Given the description of an element on the screen output the (x, y) to click on. 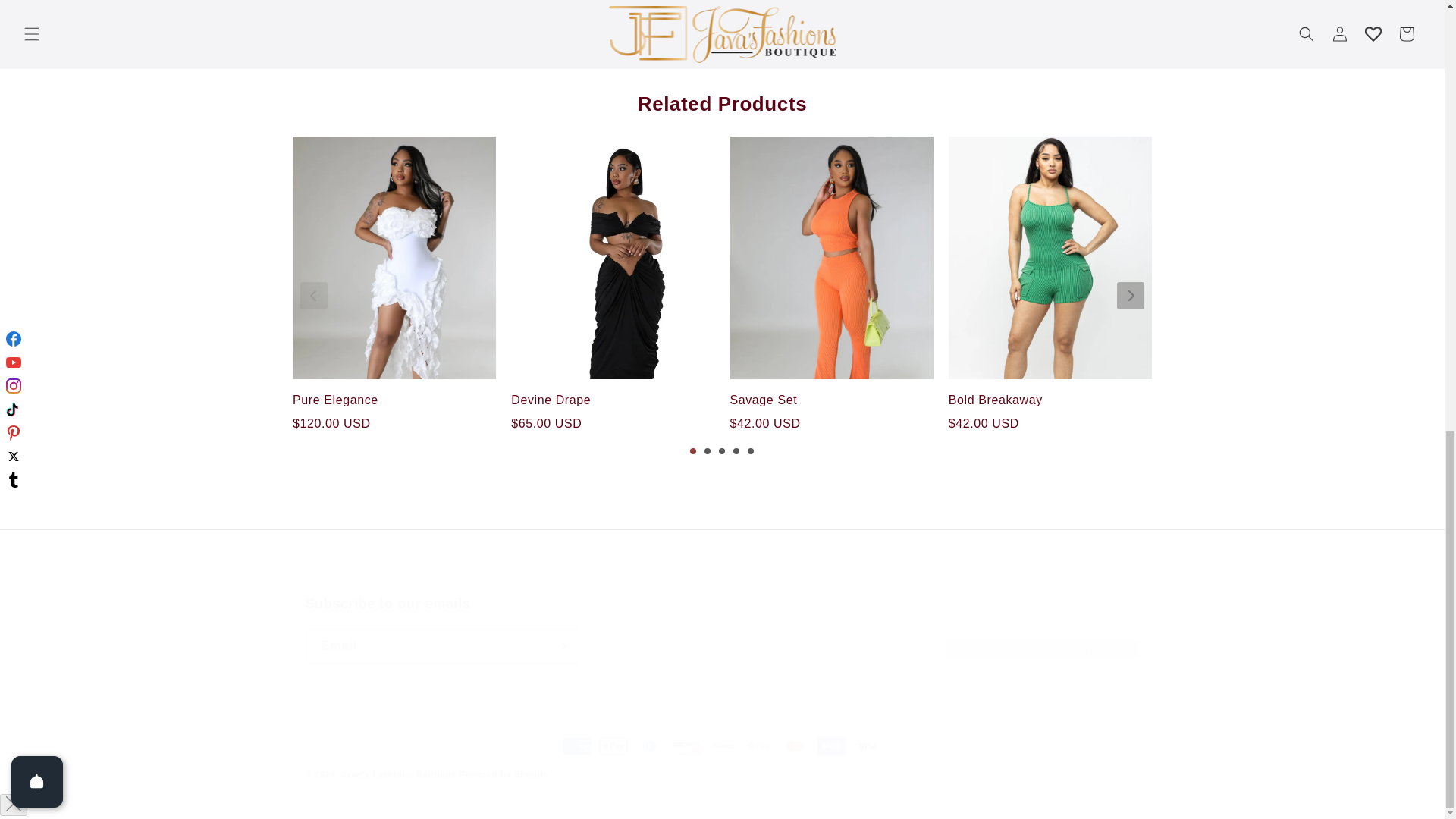
Savage Set (831, 400)
Bold Breakaway (1050, 400)
Pure Elegance (721, 629)
Devine Drape (394, 400)
